Given the description of an element on the screen output the (x, y) to click on. 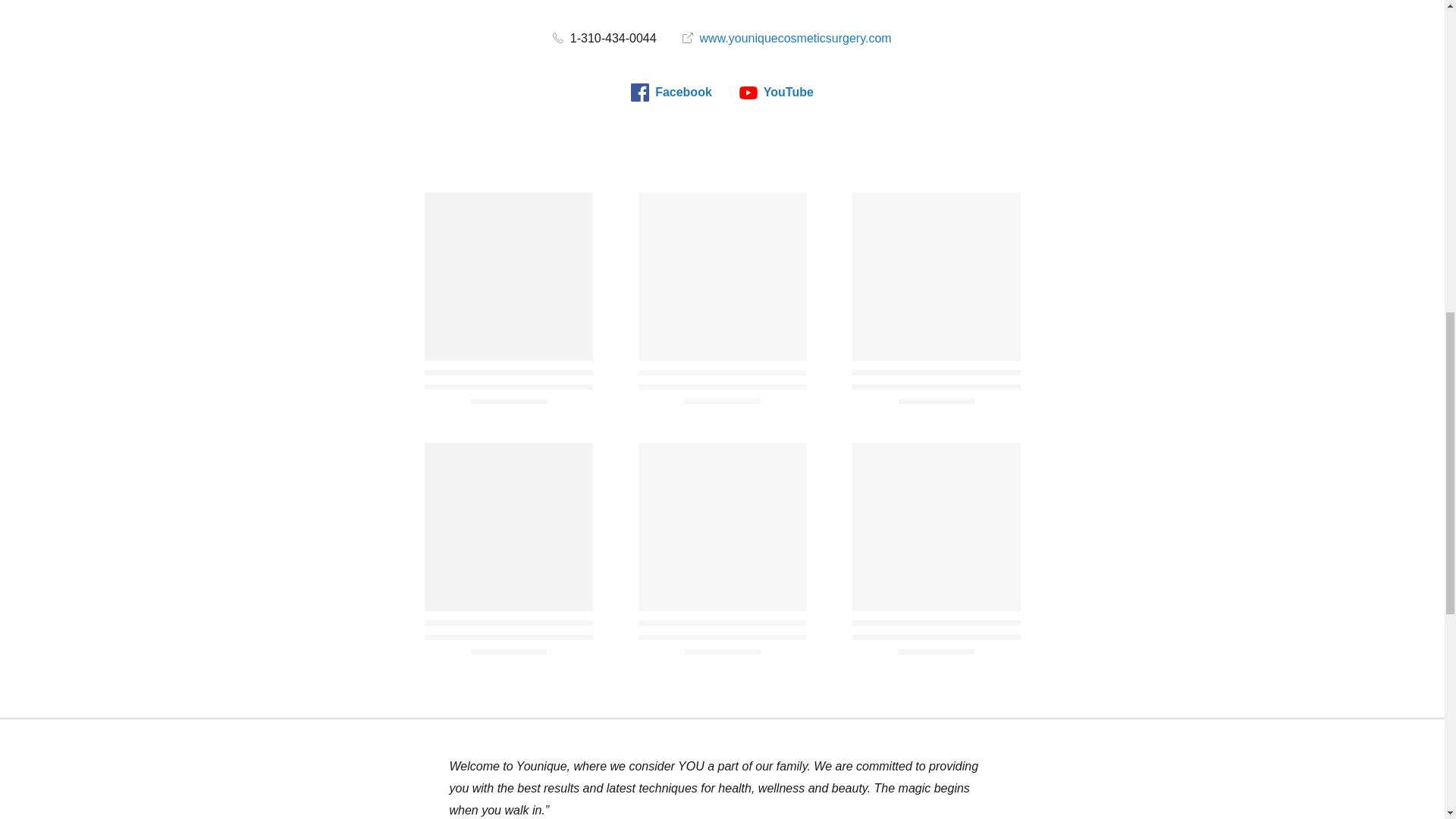
www.youniquecosmeticsurgery.com (786, 38)
1-310-434-0044 (604, 38)
Facebook (670, 92)
YouTube (776, 92)
